Given the description of an element on the screen output the (x, y) to click on. 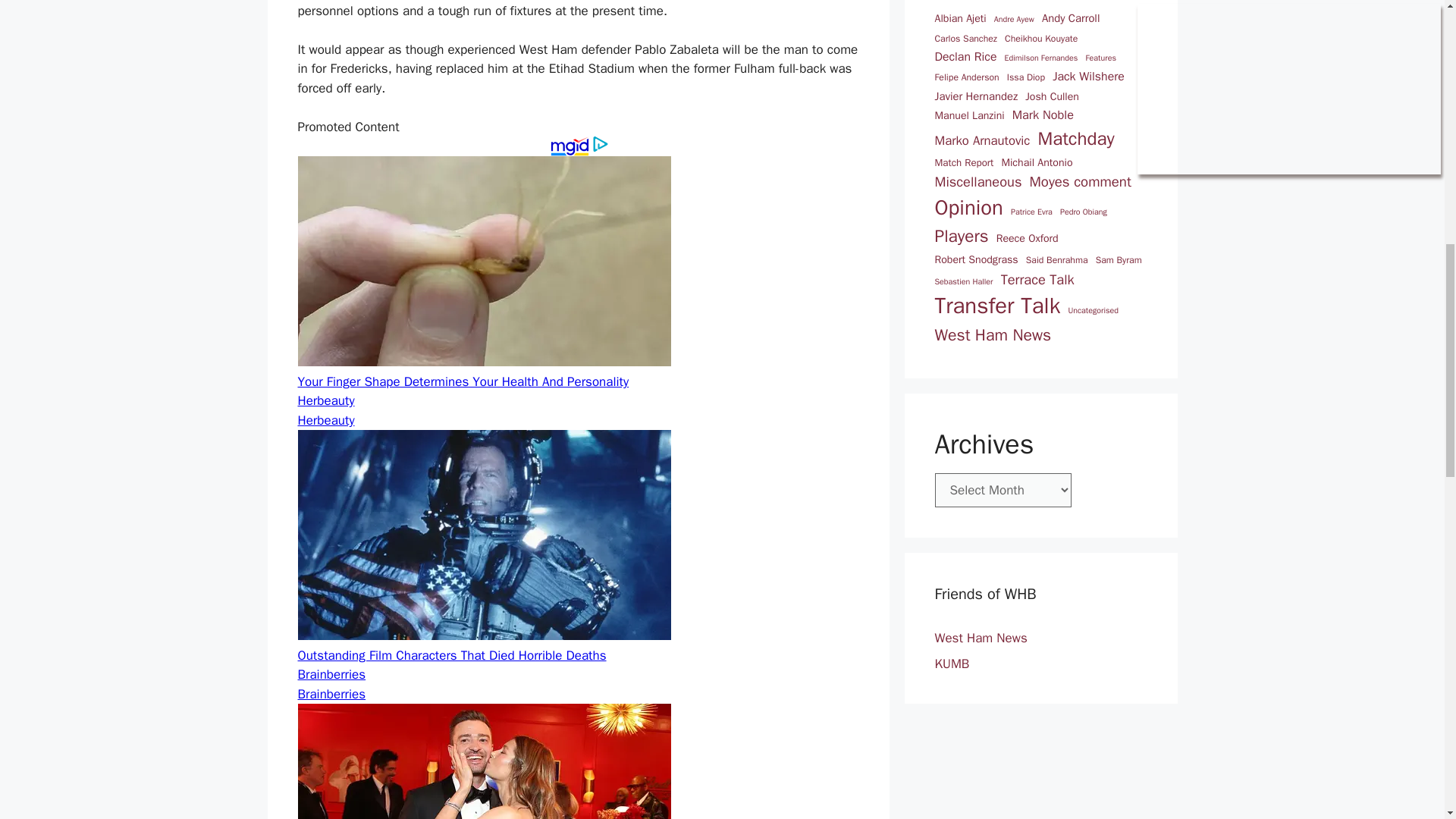
Josh Cullen (1051, 96)
Matchday (1074, 138)
Carlos Sanchez (964, 38)
Albian Ajeti (959, 18)
Felipe Anderson (966, 77)
Manuel Lanzini (969, 115)
Edimilson Fernandes (1041, 58)
Javier Hernandez (975, 95)
Andy Carroll (1071, 17)
Jack Wilshere (1088, 76)
